Given the description of an element on the screen output the (x, y) to click on. 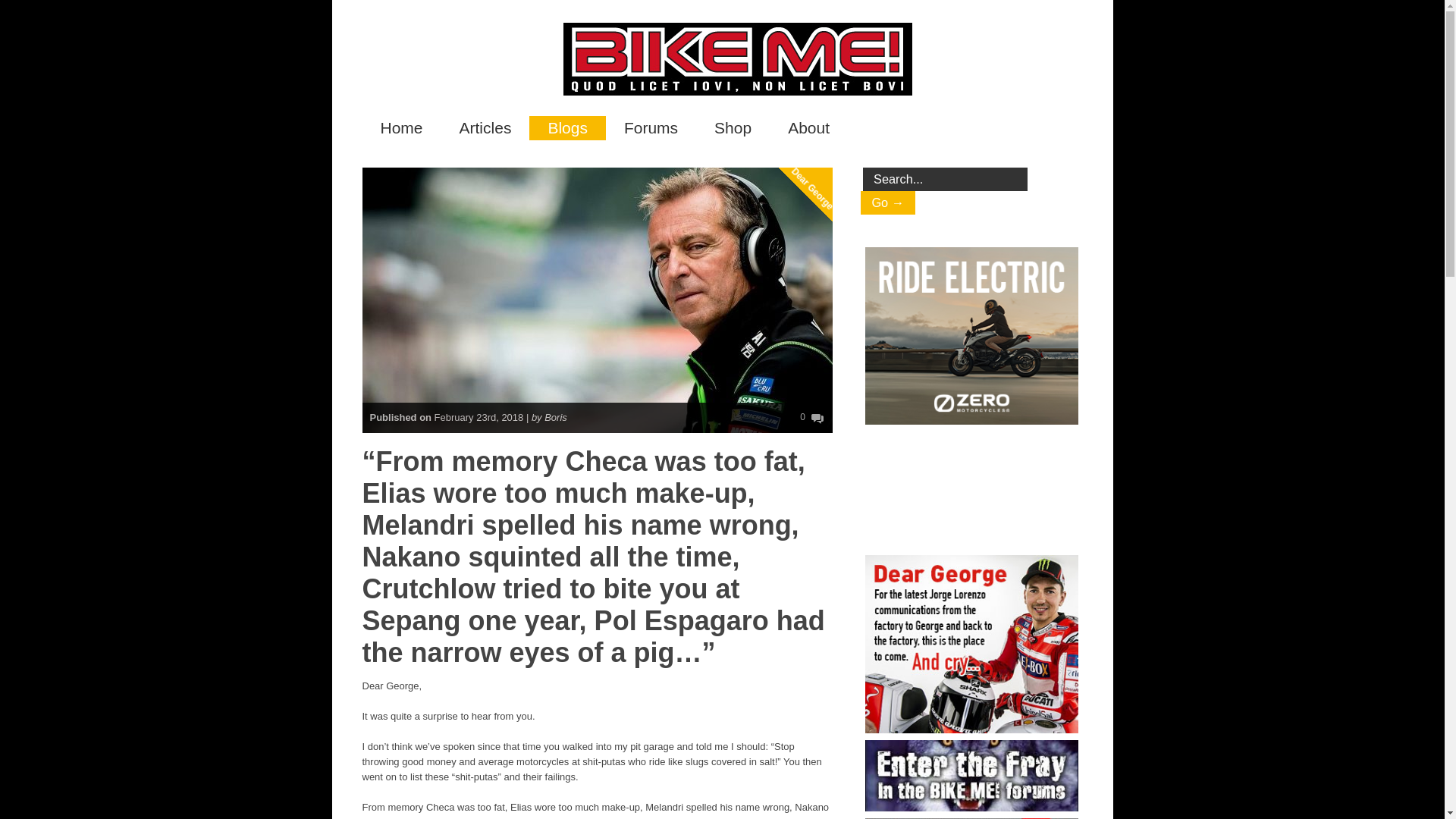
Search... (945, 178)
Blogs (567, 128)
Dear George (828, 127)
Articles (485, 128)
Home (401, 128)
About (808, 128)
Forums (650, 128)
Search... (945, 178)
Shop (732, 128)
